Given the description of an element on the screen output the (x, y) to click on. 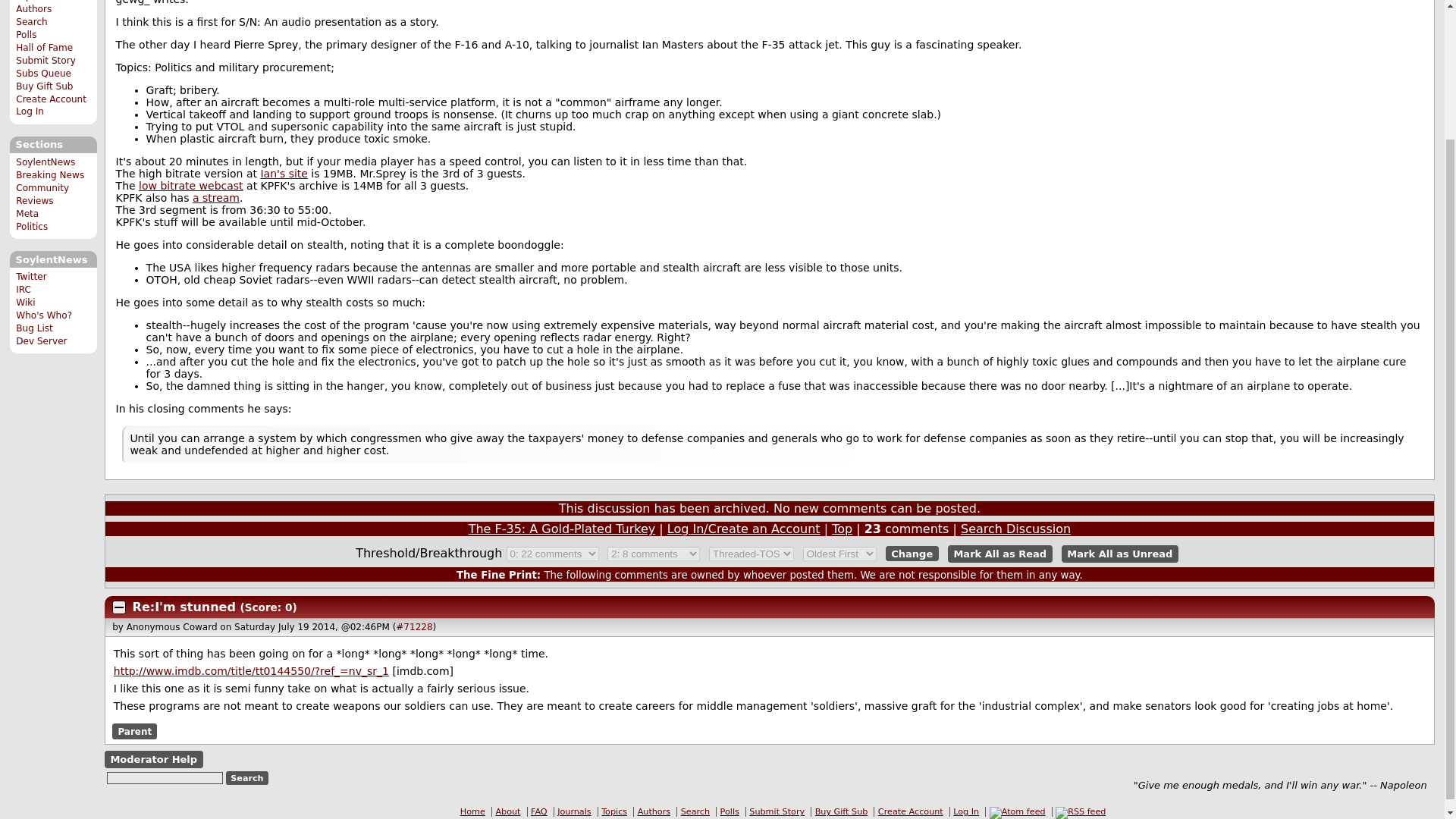
Log In (29, 111)
IRC (23, 289)
Submit Story (45, 60)
Buy Gift Sub (44, 86)
SoylentNews (45, 162)
Twitter (31, 276)
Authors (33, 9)
Community Reviews (42, 194)
Meta (27, 213)
Search (32, 21)
